Given the description of an element on the screen output the (x, y) to click on. 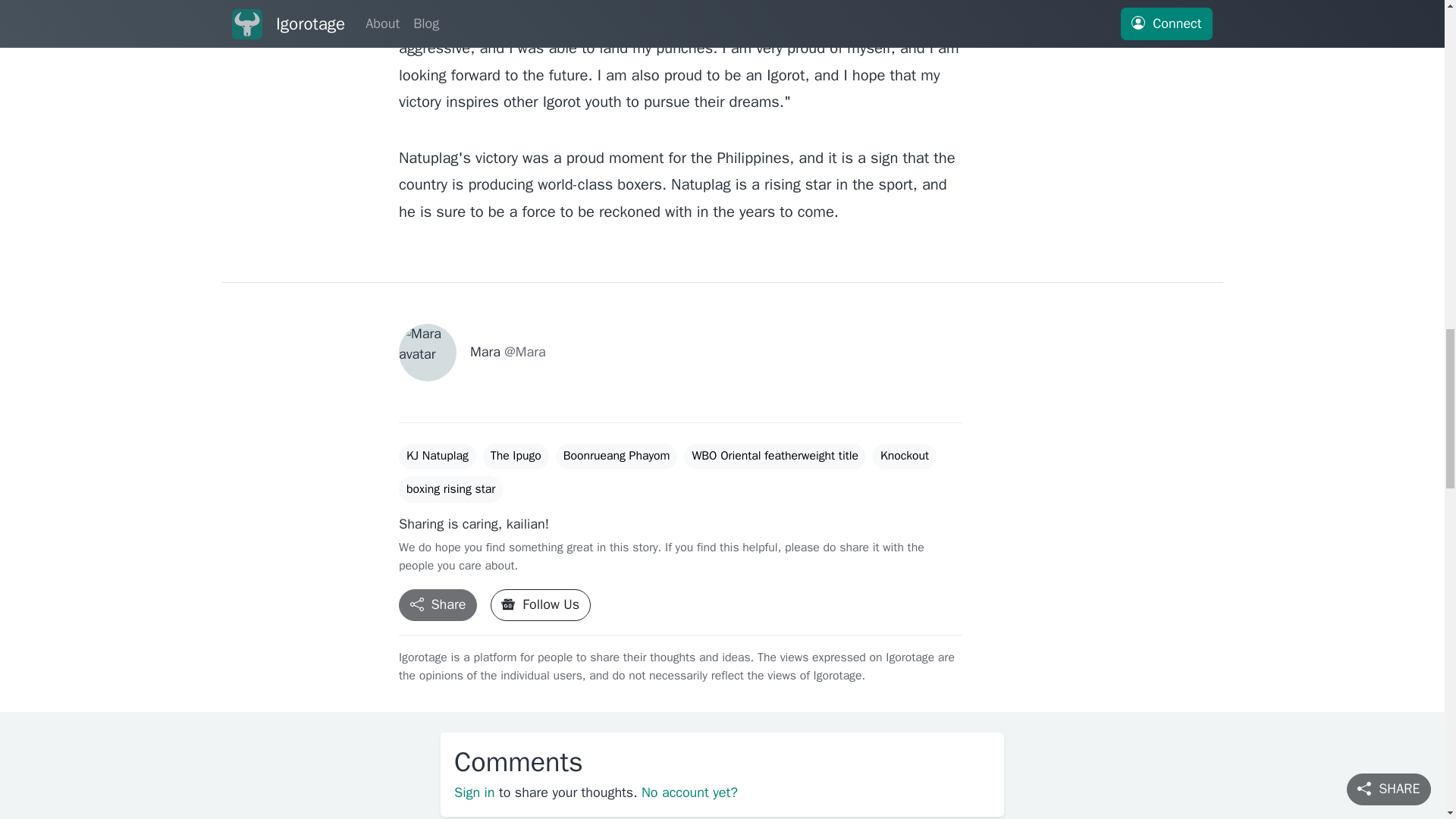
Follow us on Google News (540, 604)
Share (437, 604)
